Given the description of an element on the screen output the (x, y) to click on. 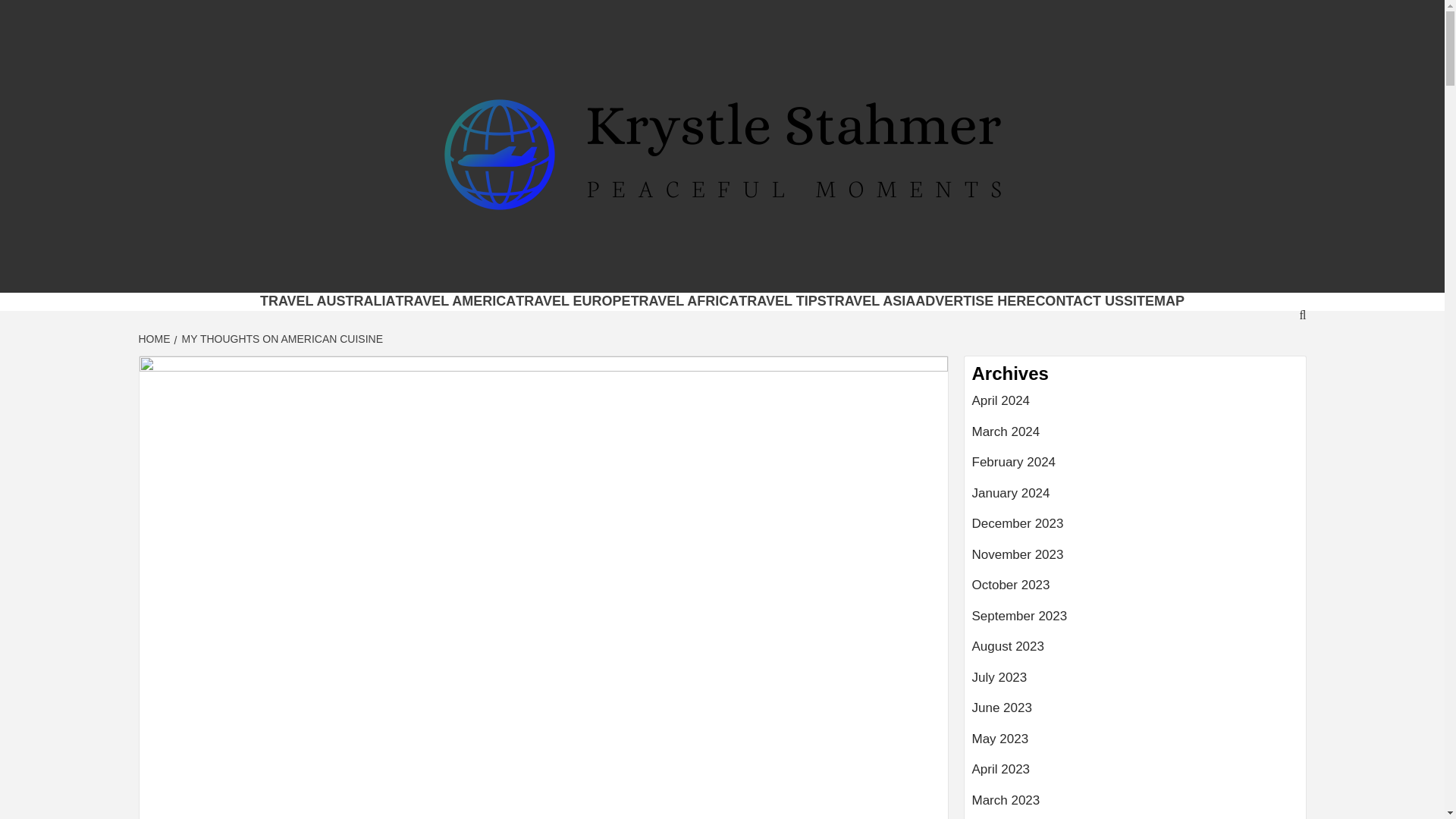
TRAVEL TIPS (781, 300)
August 2023 (1135, 652)
TRAVEL AMERICA (456, 300)
March 2023 (1135, 805)
TRAVEL ASIA (871, 300)
SITEMAP (1154, 300)
June 2023 (1135, 713)
March 2024 (1135, 437)
May 2023 (1135, 744)
February 2024 (1135, 468)
HOME (155, 338)
October 2023 (1135, 590)
TRAVEL AFRICA (684, 300)
KRYSTLE STAHMER (512, 273)
July 2023 (1135, 683)
